Given the description of an element on the screen output the (x, y) to click on. 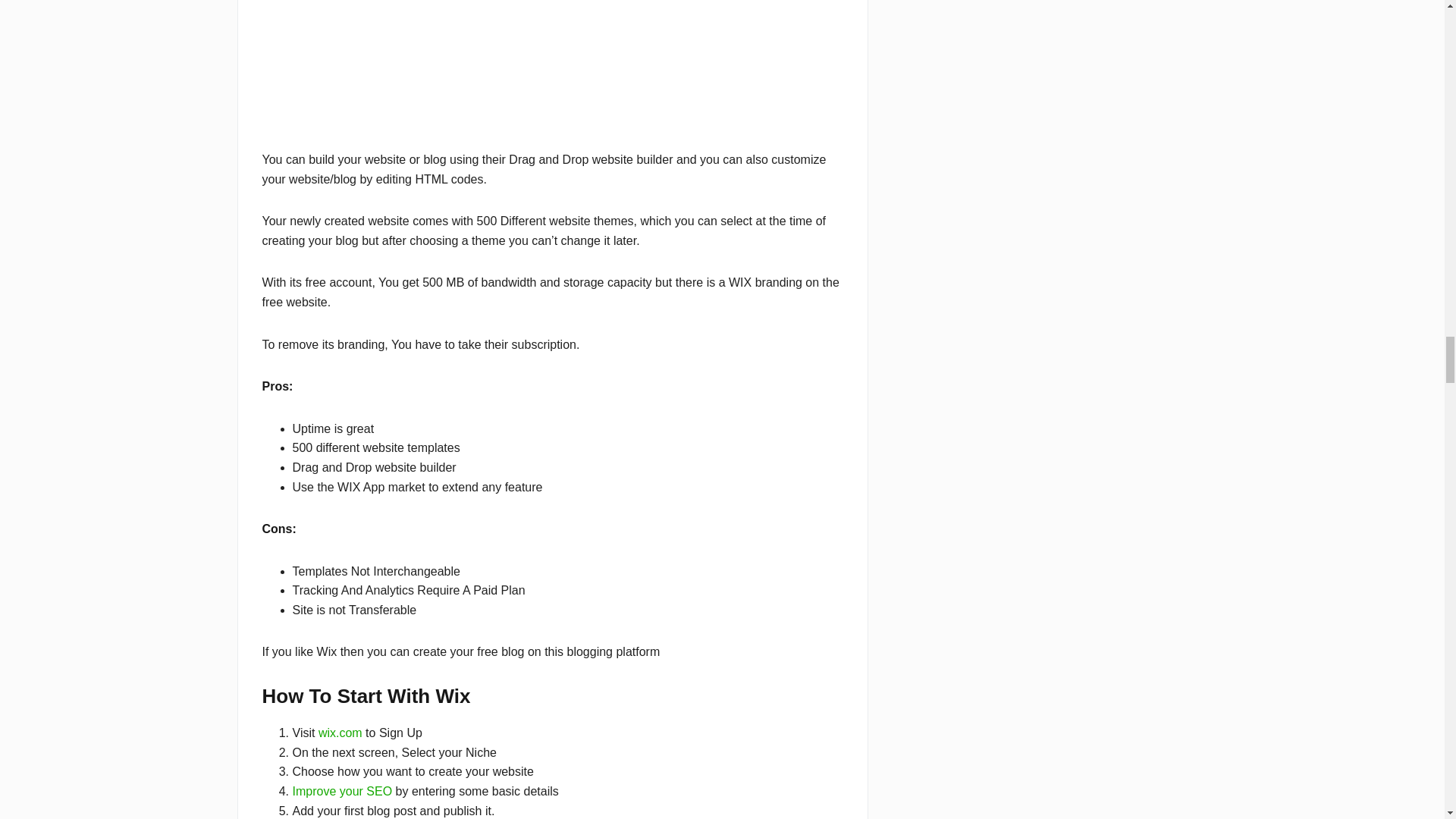
wix.com (340, 732)
Improve your SEO (342, 790)
